Given the description of an element on the screen output the (x, y) to click on. 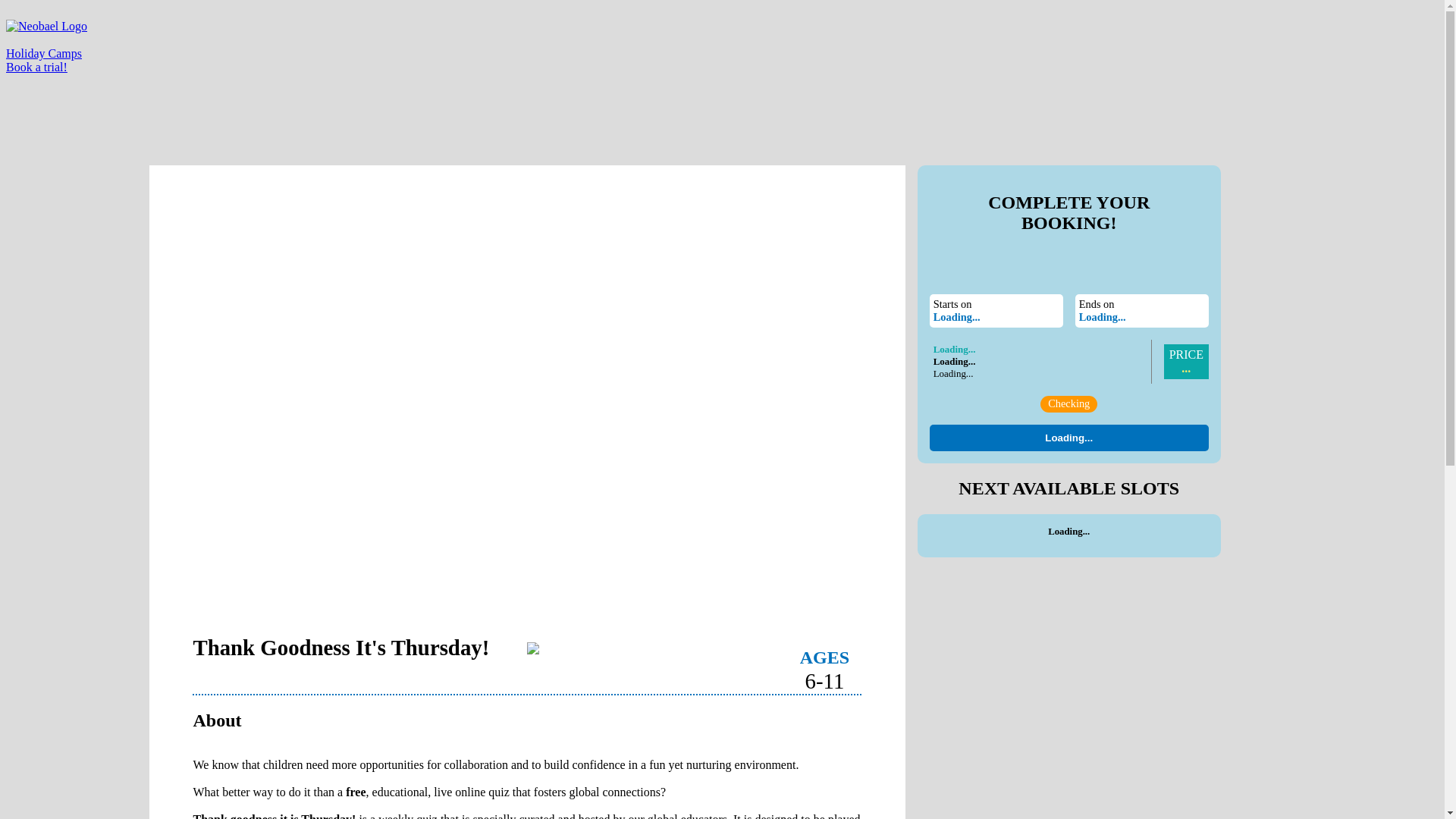
Loading... (1069, 438)
Holiday Camps (43, 52)
Book a trial! (35, 66)
